Given the description of an element on the screen output the (x, y) to click on. 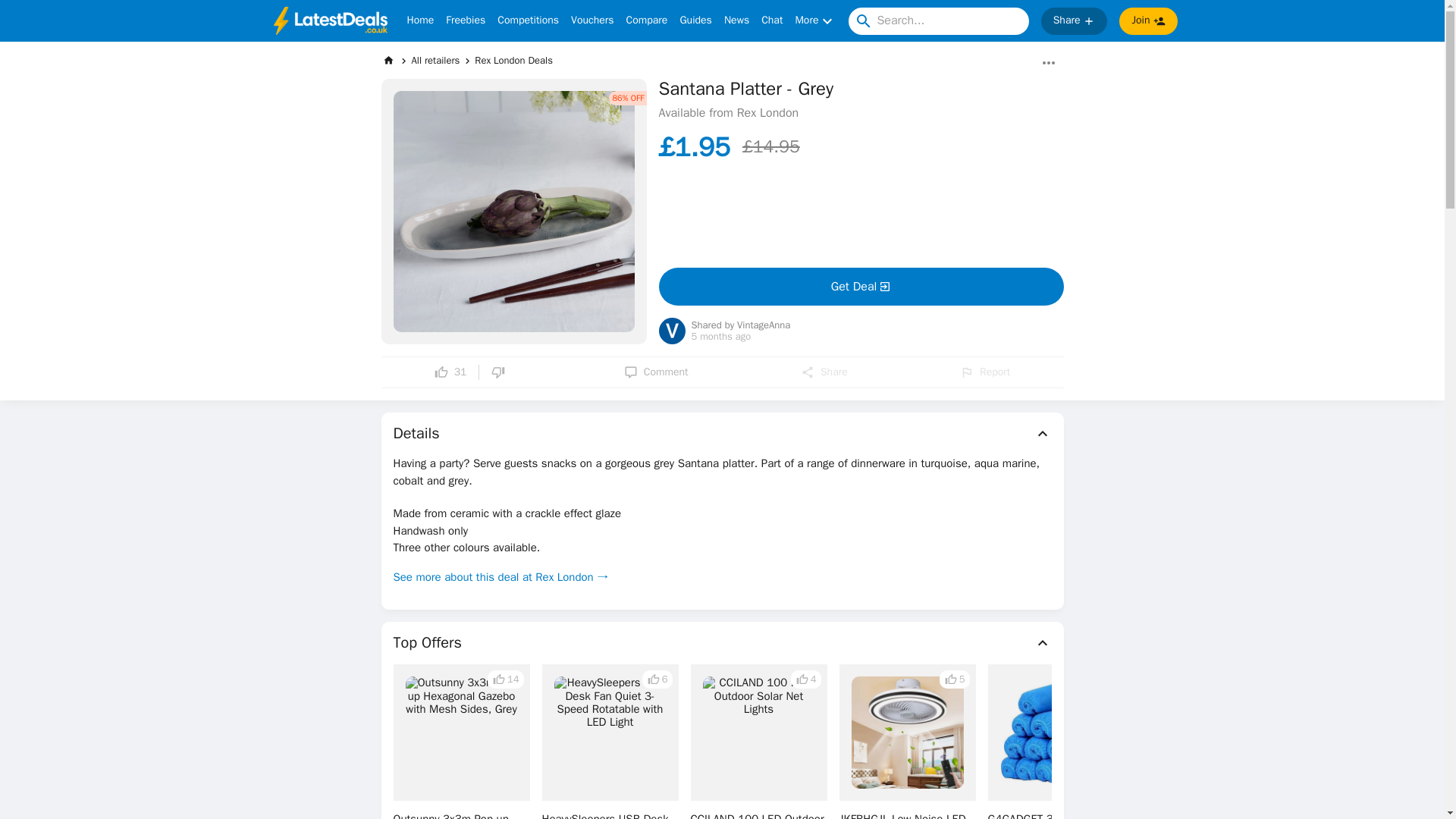
Details (722, 434)
Top Offers (722, 642)
Competitions (528, 21)
Freebies (464, 21)
Join (1147, 21)
More (814, 21)
All retailers (435, 60)
Share (1074, 21)
Get Deal (860, 286)
Vouchers (591, 21)
Report (984, 371)
Compare (647, 21)
Guides (695, 21)
Share (823, 371)
News (736, 21)
